Given the description of an element on the screen output the (x, y) to click on. 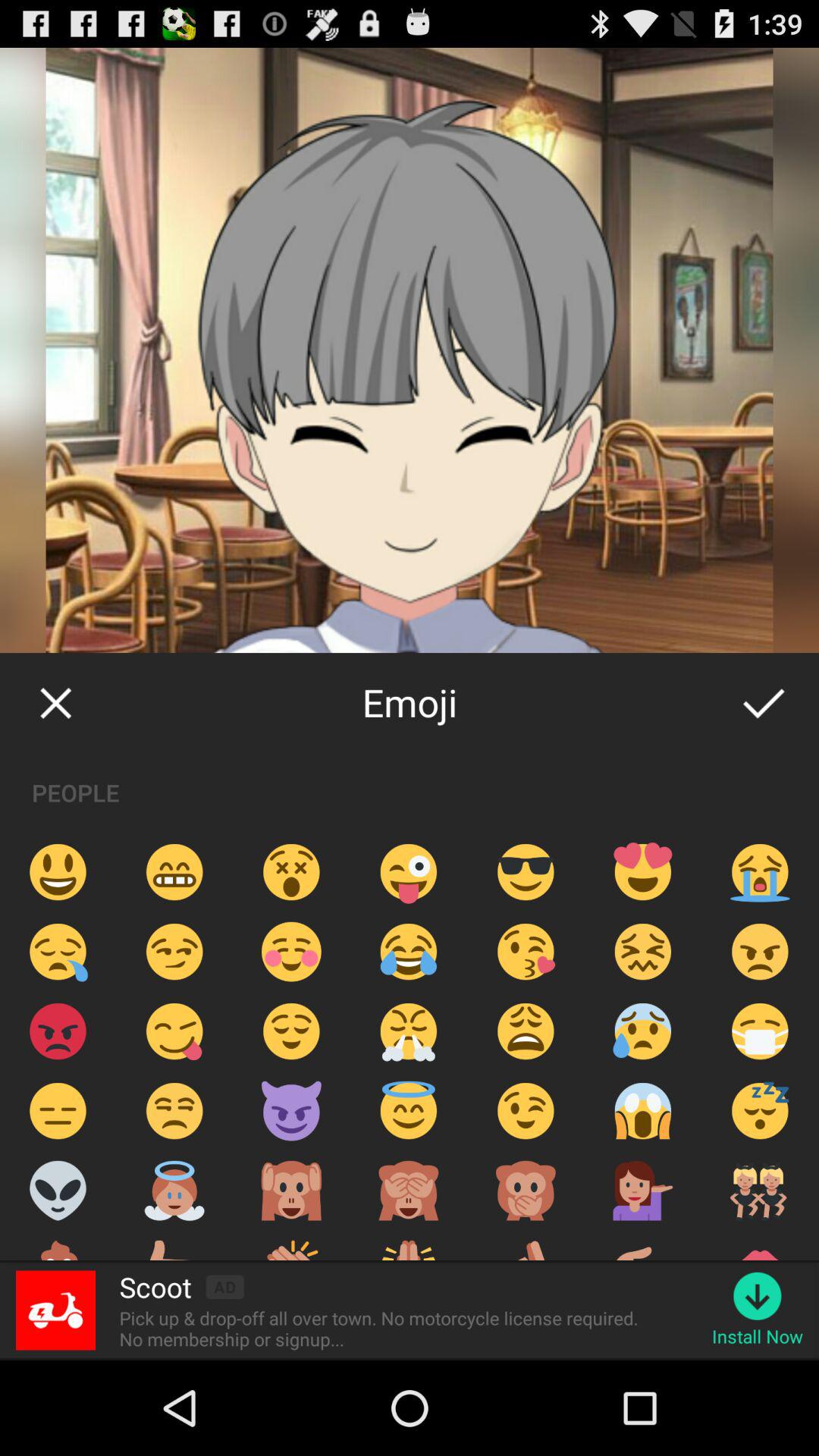
turn on pick up drop icon (383, 1328)
